Given the description of an element on the screen output the (x, y) to click on. 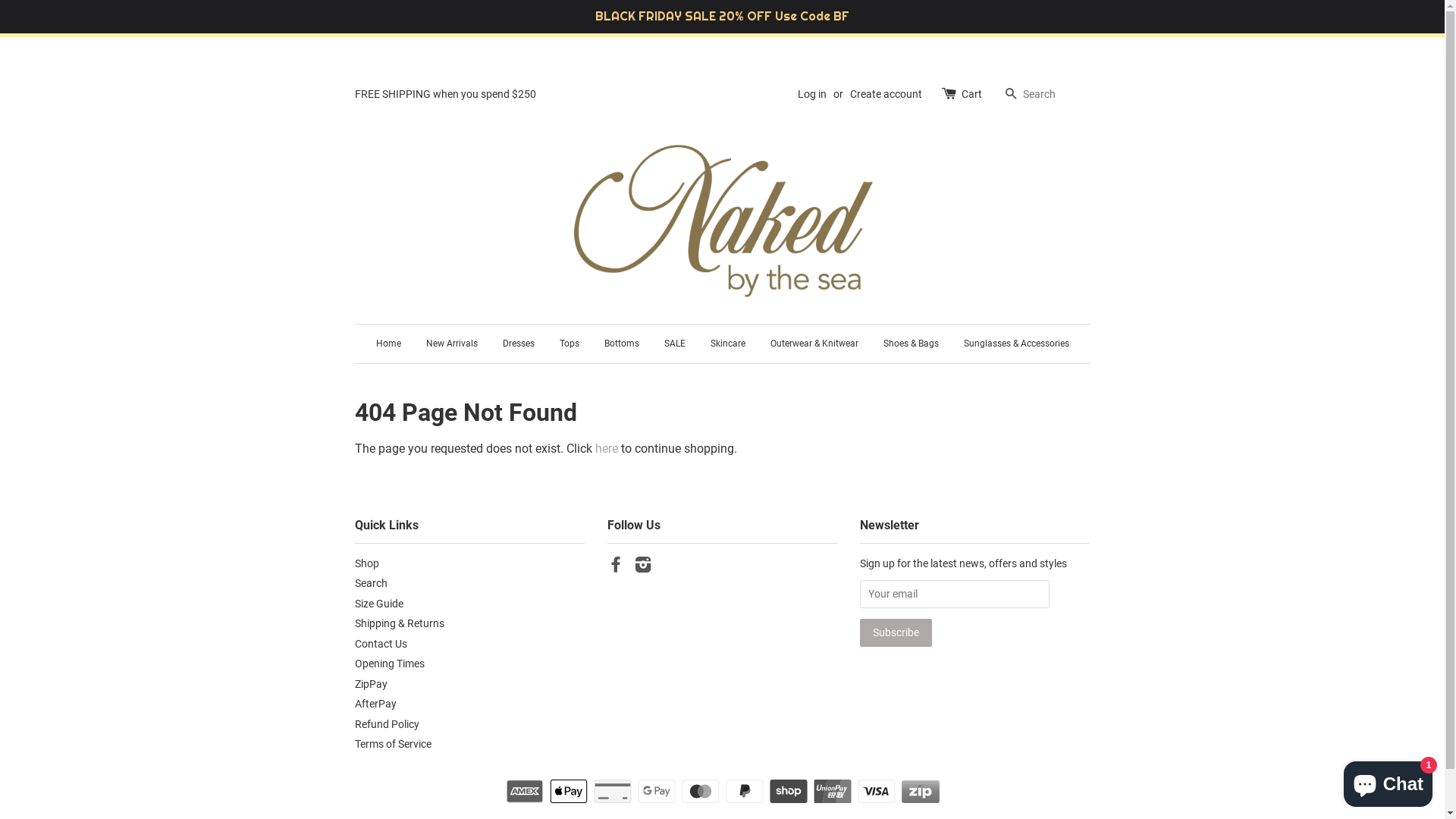
here Element type: text (605, 448)
Log in Element type: text (811, 93)
Terms of Service Element type: text (392, 743)
ZipPay Element type: text (370, 683)
Shipping & Returns Element type: text (399, 623)
Search Element type: text (370, 583)
Dresses Element type: text (518, 343)
SALE Element type: text (674, 343)
Contact Us Element type: text (380, 643)
Size Guide Element type: text (378, 603)
Shoes & Bags Element type: text (911, 343)
Create account Element type: text (885, 93)
BLACK FRIDAY SALE 20% OFF Use Code BF Element type: text (722, 16)
Cart Element type: text (971, 94)
Facebook Element type: text (615, 567)
Shopify online store chat Element type: hover (1388, 780)
Instagram Element type: text (642, 567)
Shop Element type: text (366, 563)
Outerwear & Knitwear Element type: text (813, 343)
New Arrivals Element type: text (451, 343)
Skincare Element type: text (727, 343)
Opening Times Element type: text (389, 663)
Subscribe Element type: text (895, 632)
Refund Policy Element type: text (386, 724)
Sunglasses & Accessories Element type: text (1010, 343)
Search Element type: text (1010, 94)
Tops Element type: text (568, 343)
Bottoms Element type: text (621, 343)
Home Element type: text (394, 343)
AfterPay Element type: text (375, 703)
